Given the description of an element on the screen output the (x, y) to click on. 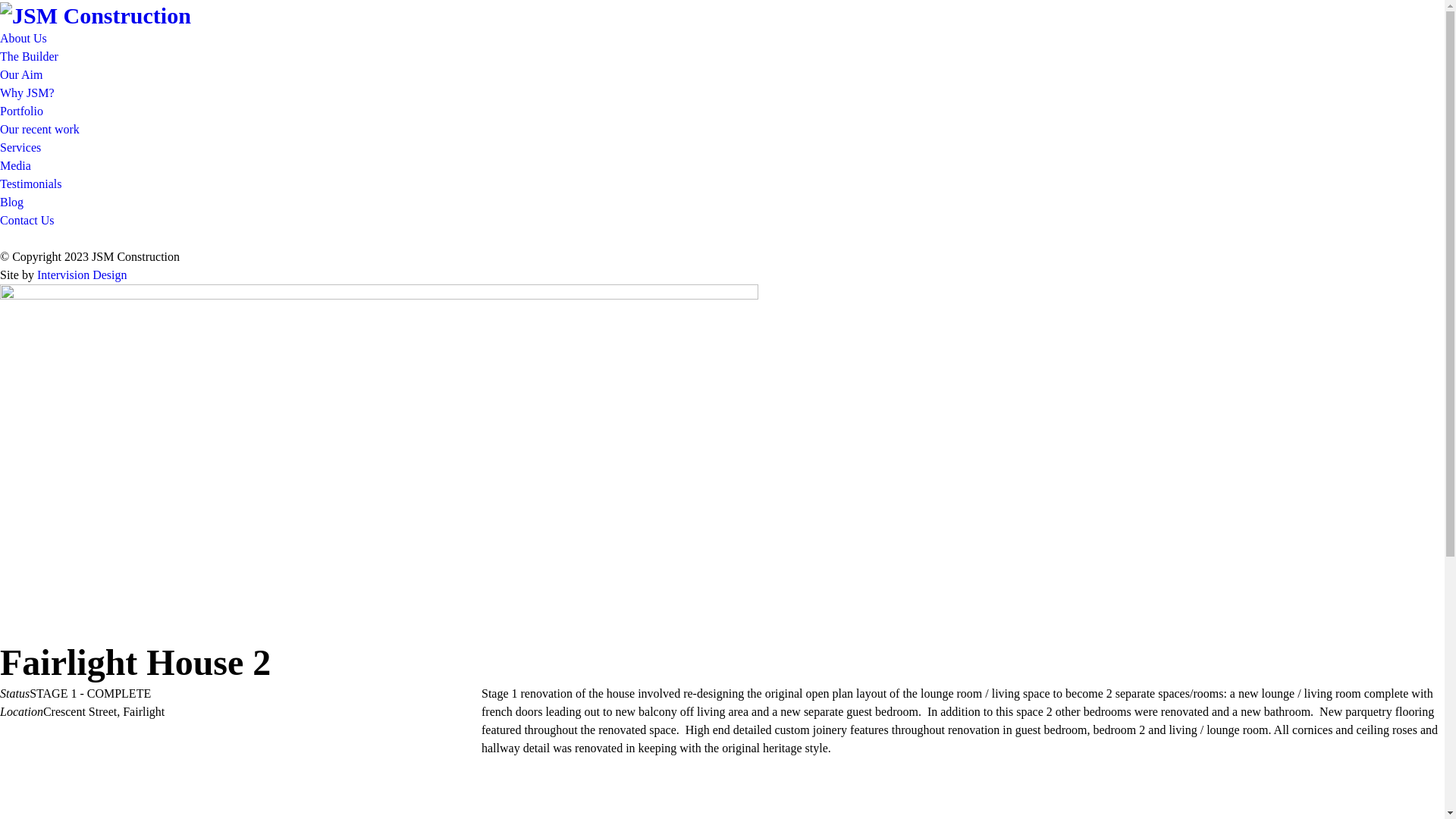
Intervision Design Element type: text (82, 274)
Portfolio Element type: text (21, 110)
Testimonials Element type: text (31, 183)
Services Element type: text (20, 147)
Our Aim Element type: text (21, 74)
Why JSM? Element type: text (27, 92)
About Us Element type: text (23, 37)
The Builder Element type: text (29, 56)
Media Element type: text (15, 165)
Blog Element type: text (11, 201)
Contact Us Element type: text (27, 219)
Our recent work Element type: text (39, 128)
